Given the description of an element on the screen output the (x, y) to click on. 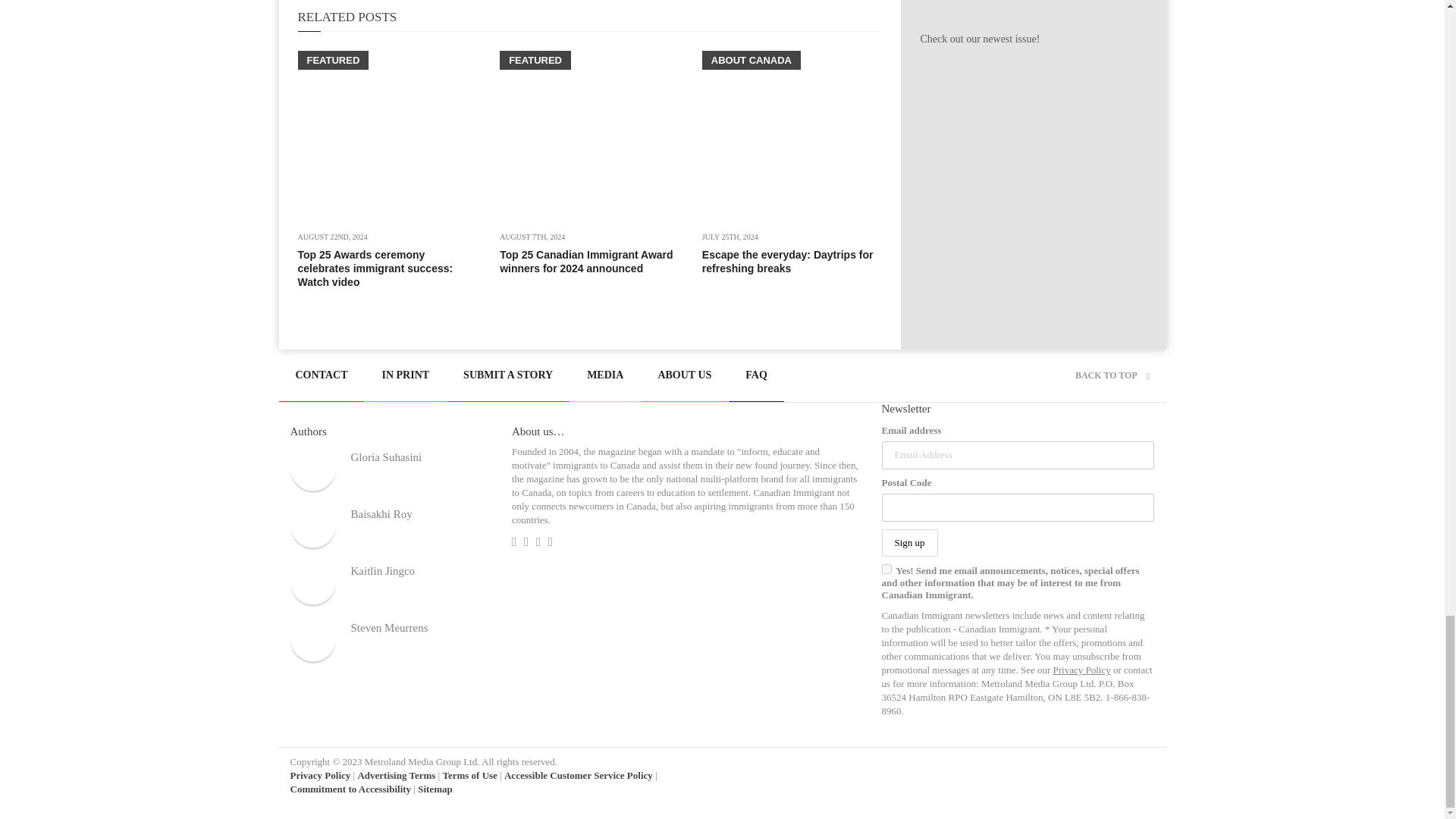
1 (885, 569)
Sign up (908, 543)
BACK TO TOP (1112, 375)
